Given the description of an element on the screen output the (x, y) to click on. 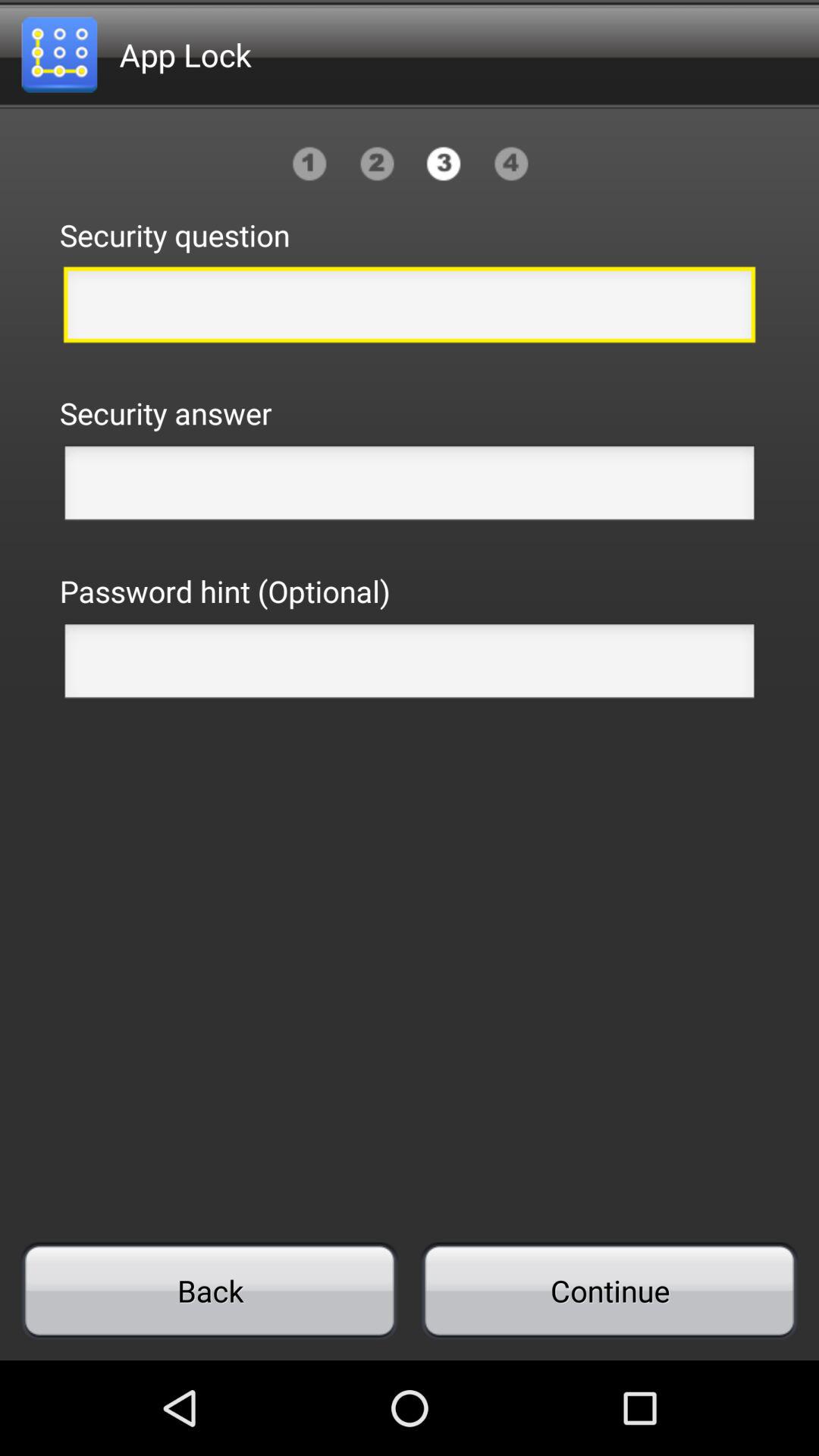
choose back item (209, 1290)
